Given the description of an element on the screen output the (x, y) to click on. 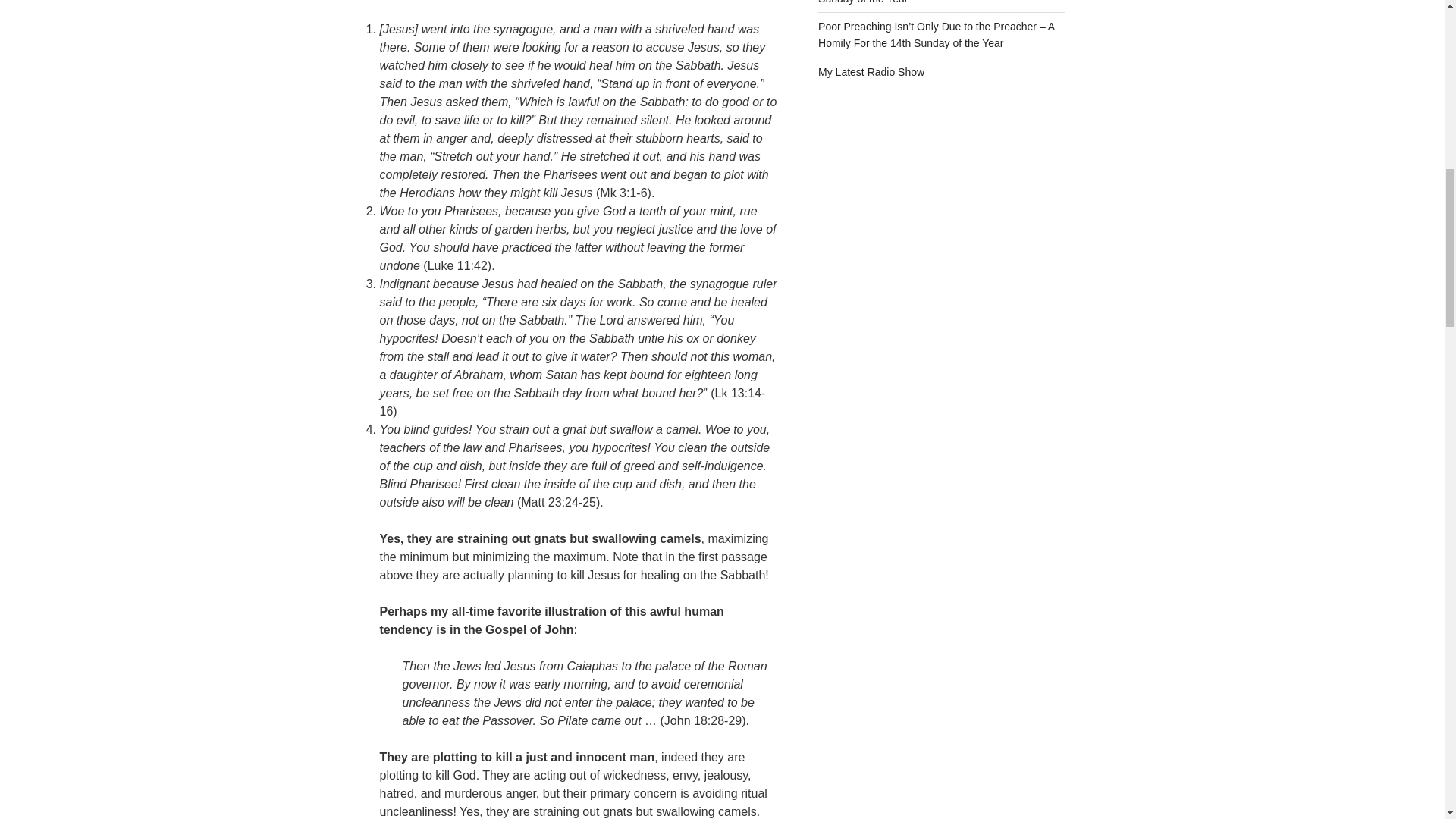
My Latest Radio Show (871, 71)
